Given the description of an element on the screen output the (x, y) to click on. 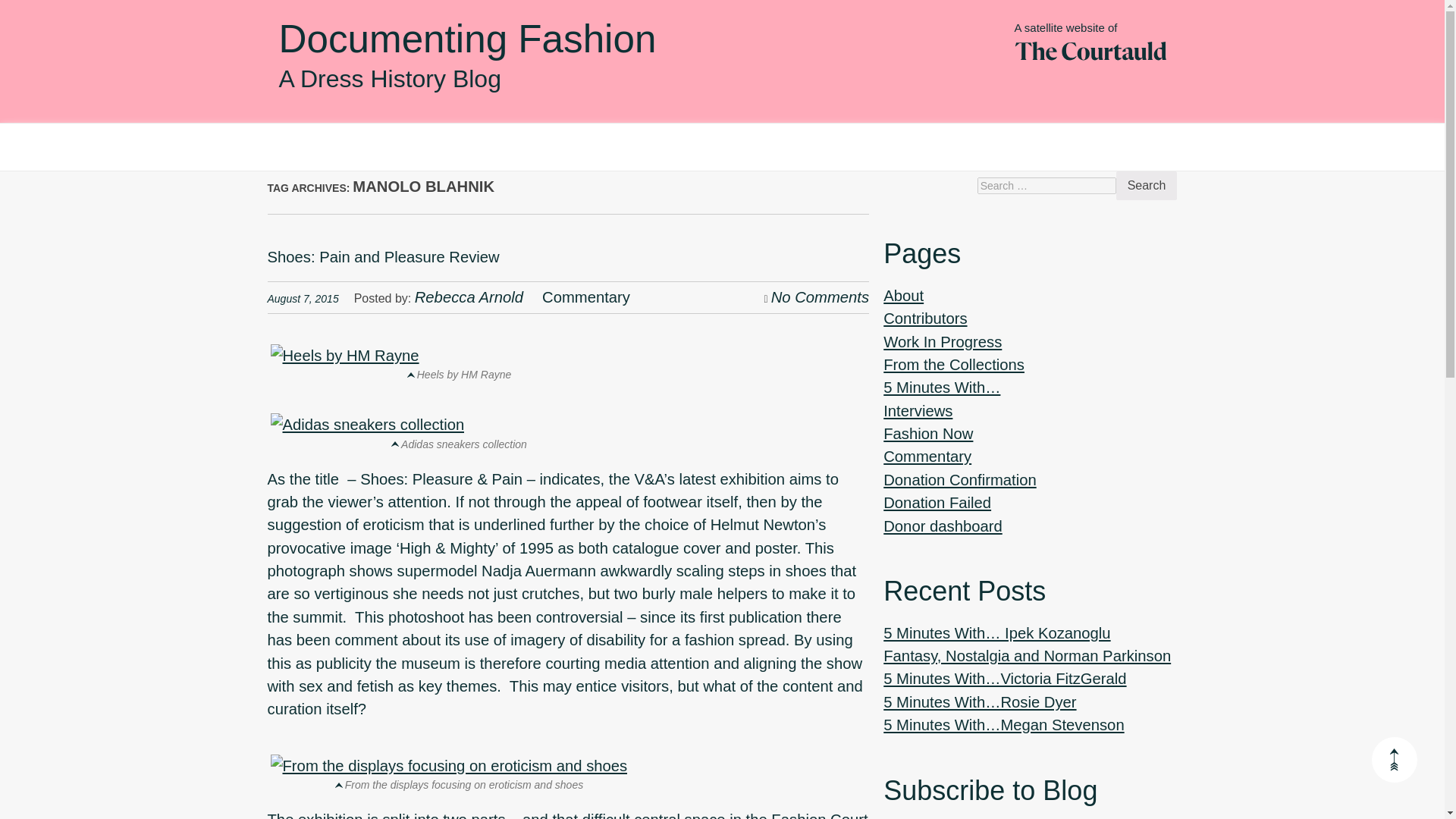
Commentary (585, 297)
Search (1146, 185)
Skip to content (317, 159)
About (903, 295)
Search (1146, 185)
Fashion Now (927, 433)
View all posts by Rebecca Arnold (468, 297)
Permalink to Shoes: Pain and Pleasure Review (382, 256)
Fantasy, Nostalgia and Norman Parkinson (1026, 655)
Work In Progress (942, 341)
Donation Confirmation (959, 479)
Interviews (917, 410)
Search (1146, 185)
From the Collections (954, 364)
Shoes: Pain and Pleasure Review (382, 256)
